Given the description of an element on the screen output the (x, y) to click on. 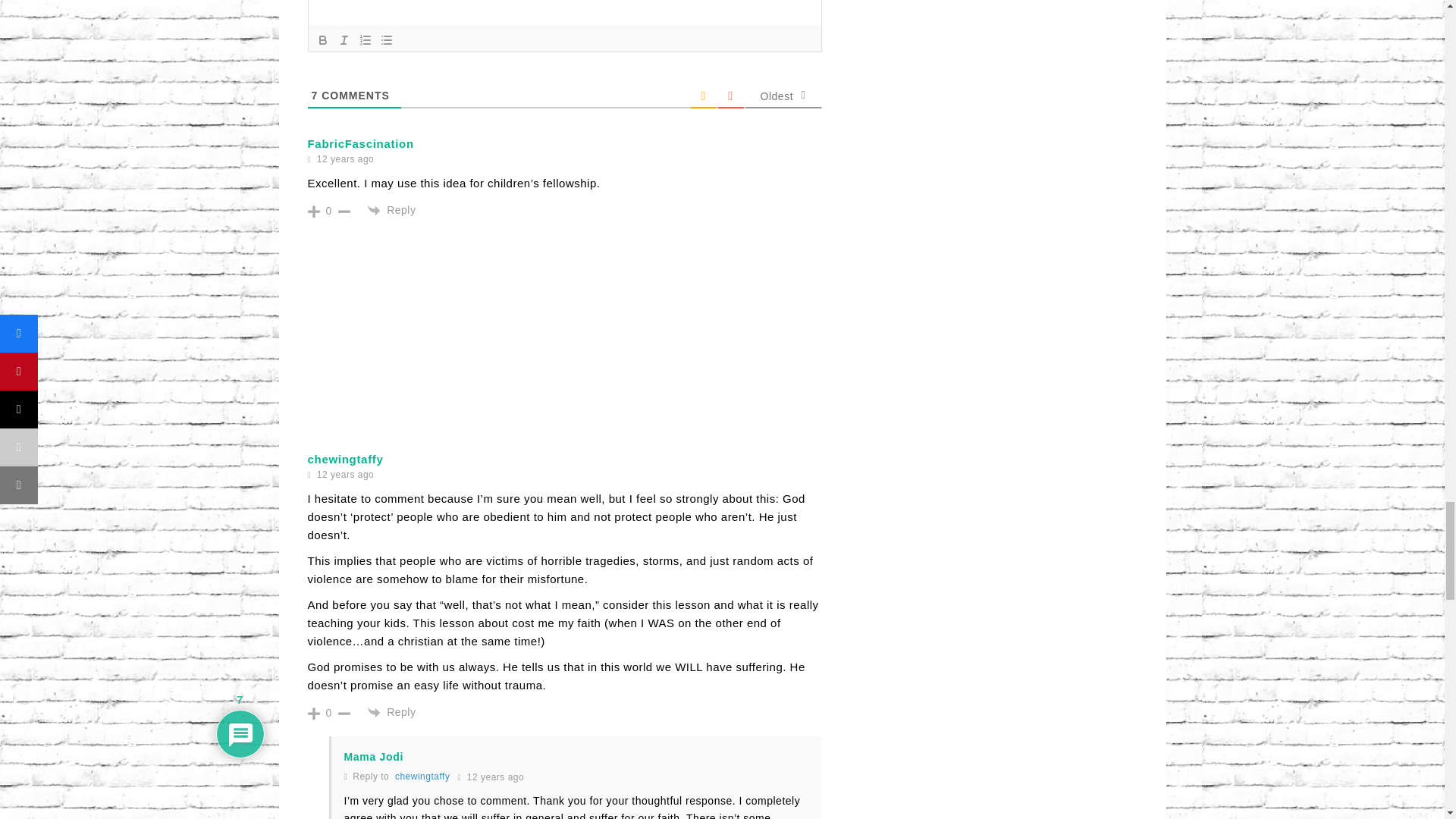
Ordered List (365, 40)
Italic (344, 40)
Unordered List (386, 40)
Bold (323, 40)
